Given the description of an element on the screen output the (x, y) to click on. 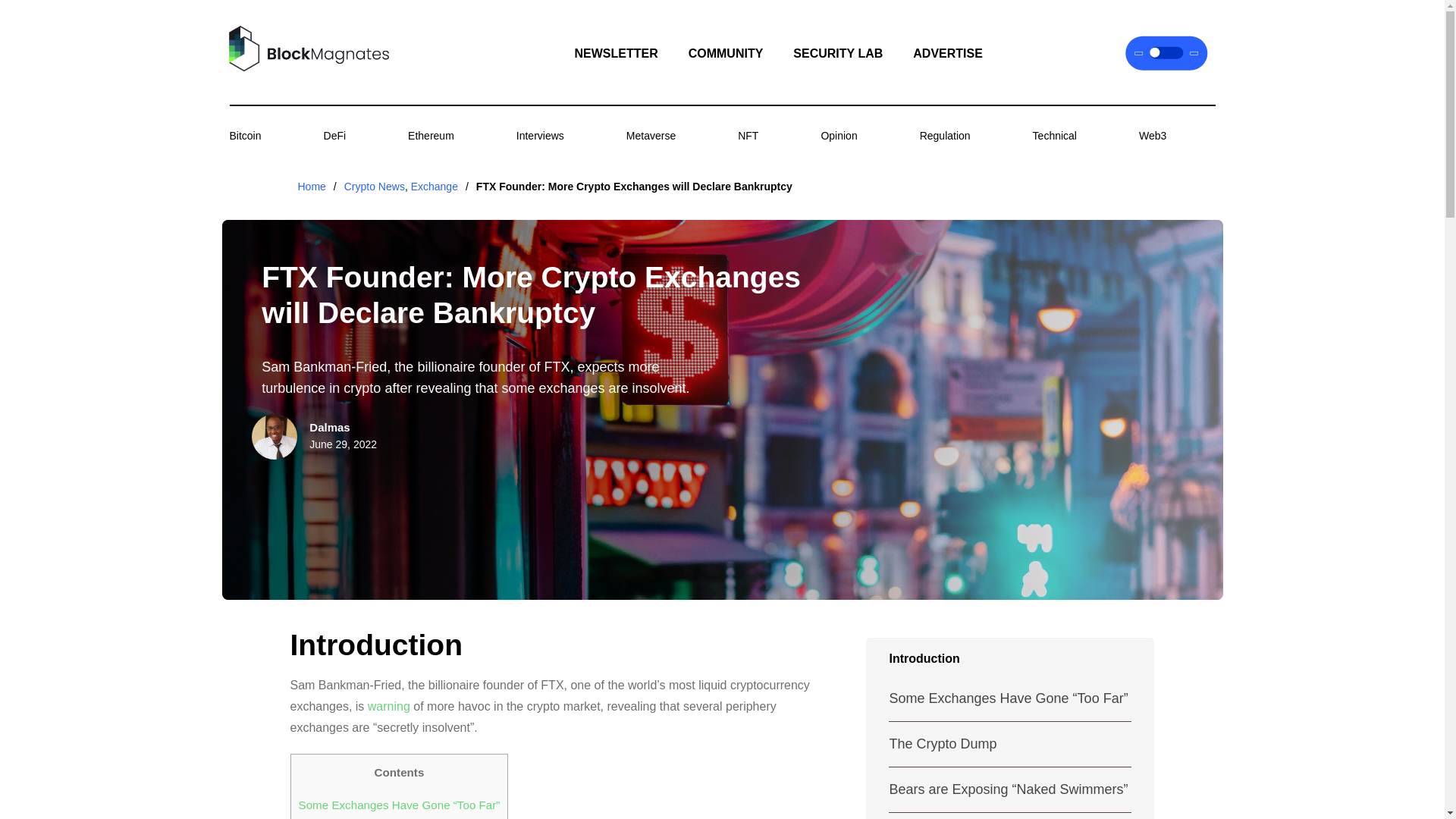
NEWSLETTER (615, 53)
Web3 (1152, 135)
Regulation (945, 135)
ADVERTISE (947, 53)
Ethereum (430, 135)
Technical (1054, 135)
Opinion (838, 135)
Home (310, 186)
COMMUNITY (725, 53)
warning (389, 706)
Dalmas (328, 427)
Interviews (540, 135)
Metaverse (650, 135)
NFT (747, 135)
Bitcoin (244, 135)
